Given the description of an element on the screen output the (x, y) to click on. 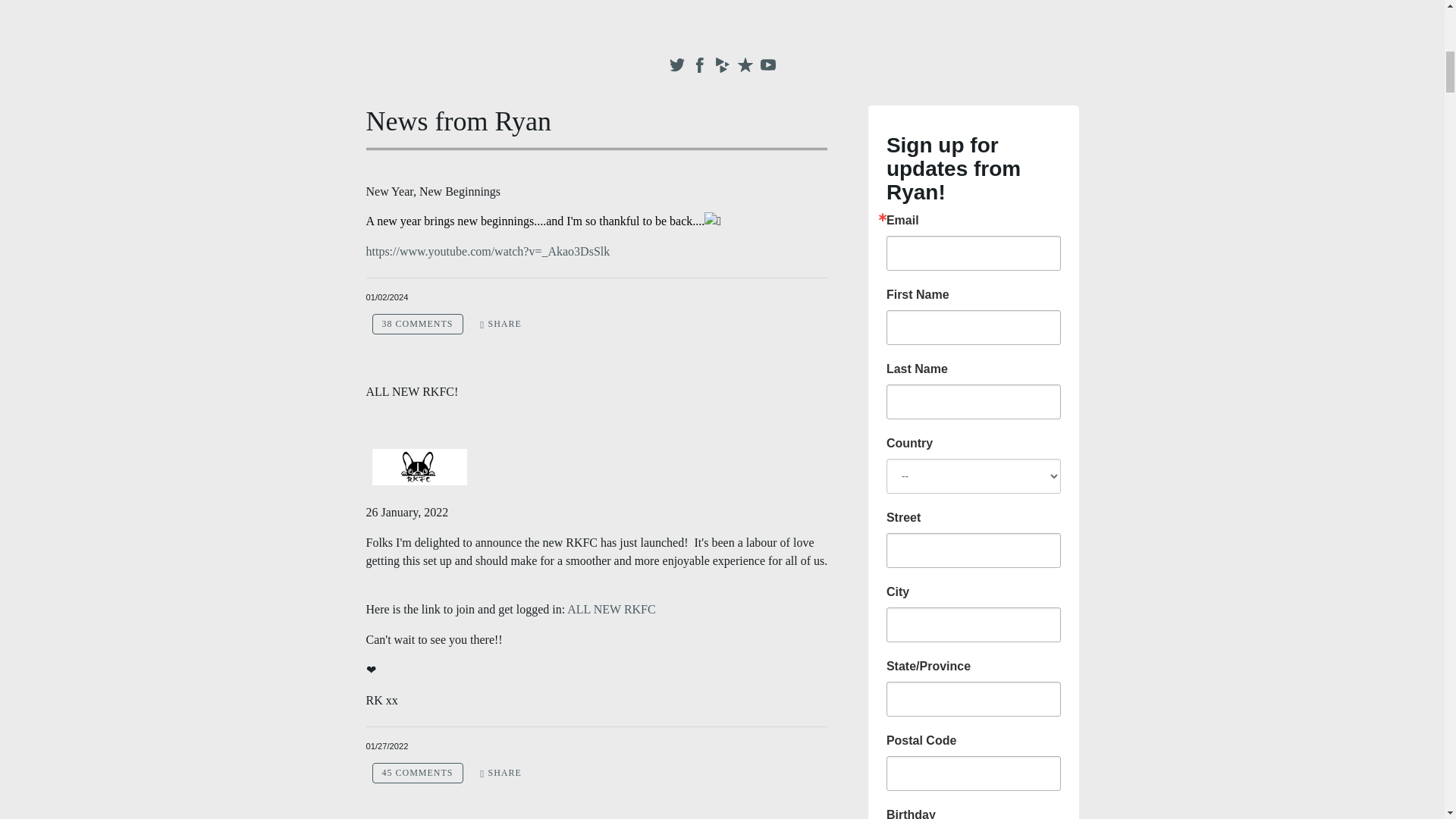
January 27, 2022 09:55 (386, 746)
38 COMMENTS (417, 323)
New Year, New Beginnings (432, 191)
45 COMMENTS (417, 772)
38 comments (417, 323)
ALL NEW RKFC! (411, 391)
Share New Year, New Beginnings (500, 323)
Share ALL NEW RKFC! (500, 772)
45 comments (417, 772)
ALL NEW RKFC  (612, 608)
SHARE (500, 323)
January 02, 2024 00:05 (386, 297)
SHARE (500, 772)
